Given the description of an element on the screen output the (x, y) to click on. 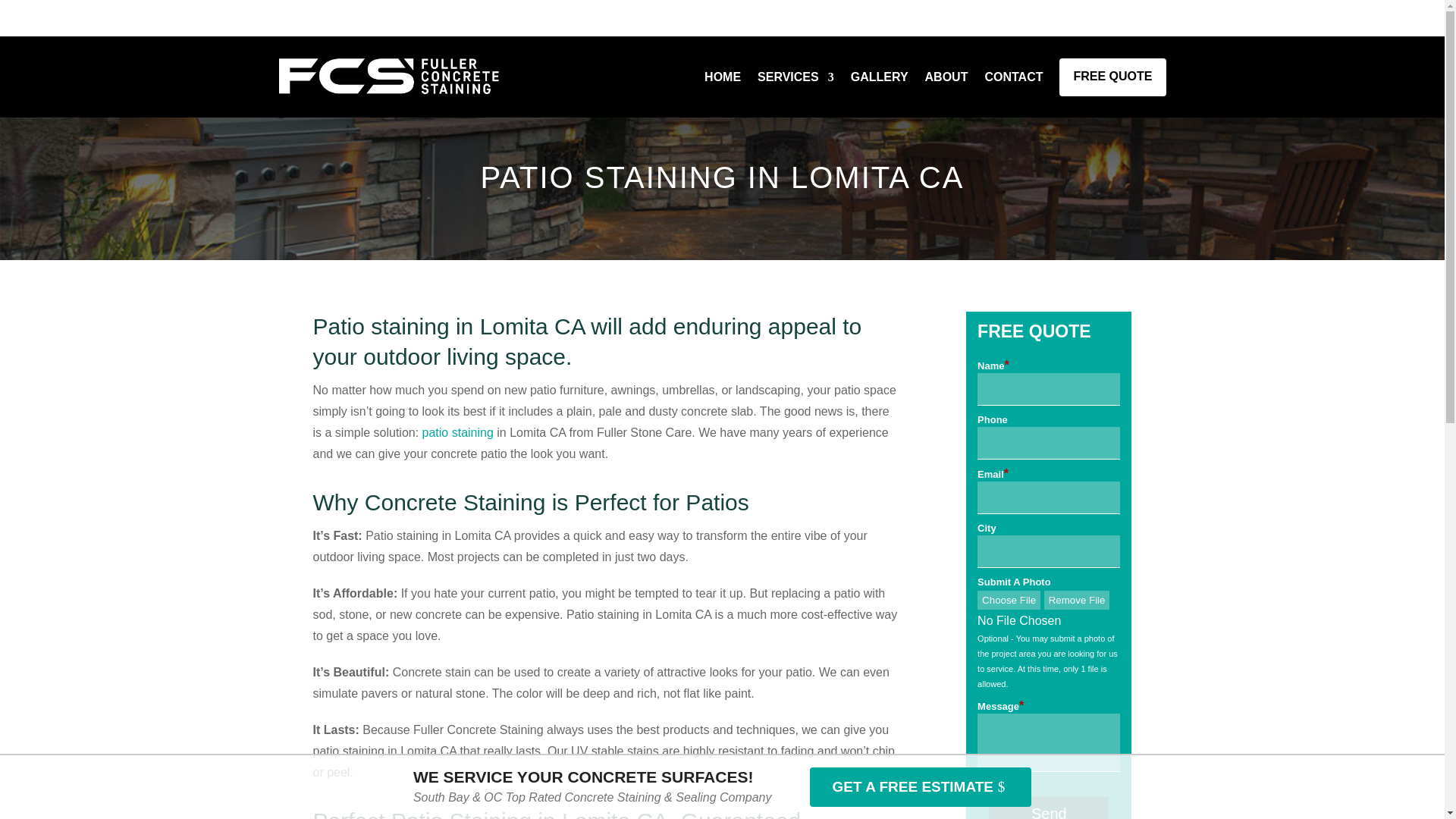
HOME (722, 77)
Previous Page (36, 12)
Send (1048, 807)
Remove File (1076, 599)
FREE QUOTE (1112, 77)
CONTACT (1013, 77)
SERVICES (795, 77)
Patio Staining (457, 431)
Choose File (1008, 599)
Send (1048, 807)
GALLERY (879, 77)
ABOUT (946, 77)
patio staining (457, 431)
Next Page (26, 12)
